Given the description of an element on the screen output the (x, y) to click on. 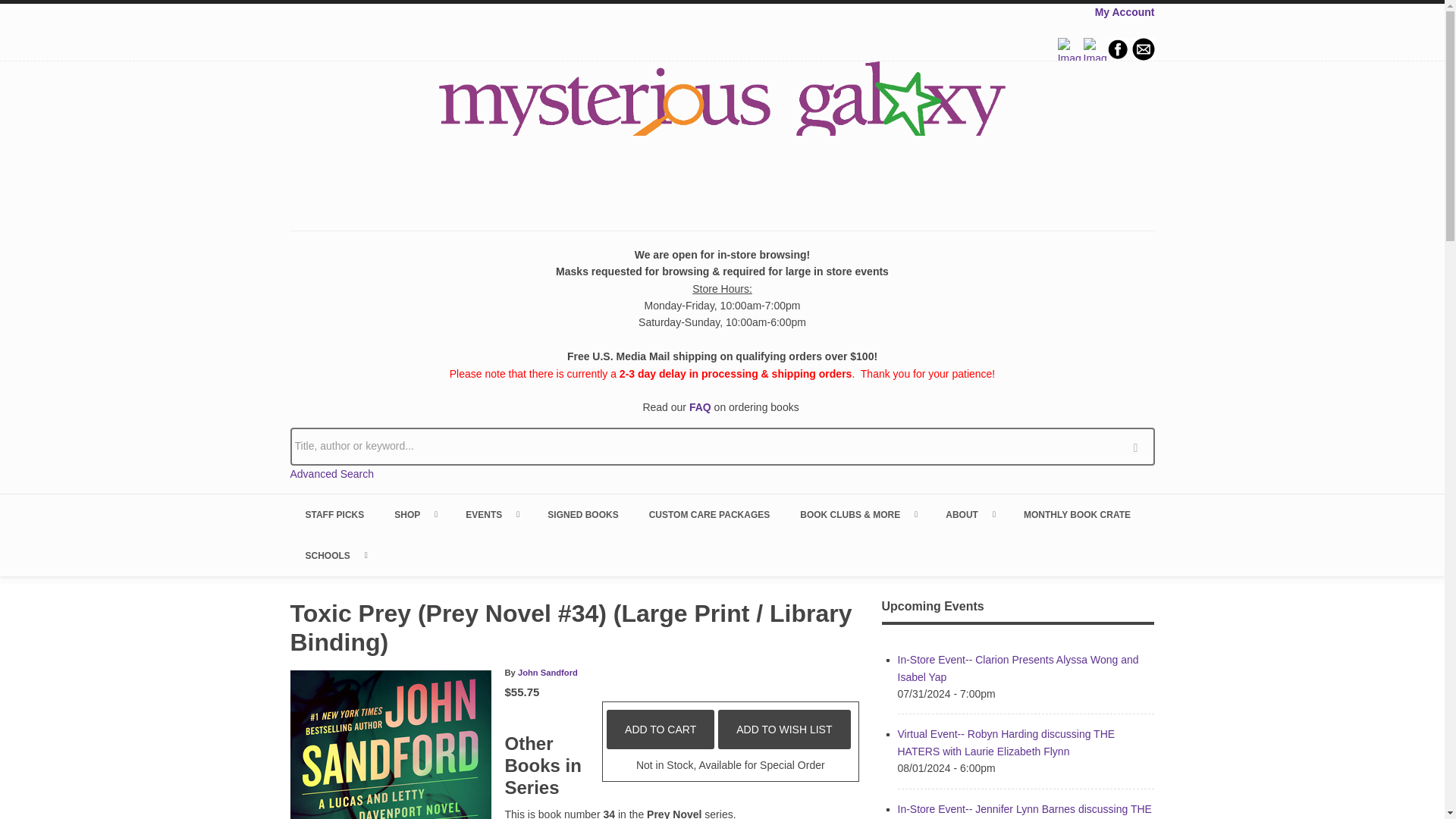
STAFF PICKS (333, 514)
Add to Cart (660, 729)
Title, author or keyword... (721, 446)
My Account (1124, 11)
FAQ (699, 407)
SHOP (413, 514)
Advanced Search (331, 473)
Add to Wish List (783, 729)
Home (722, 134)
EVENTS (490, 514)
